Given the description of an element on the screen output the (x, y) to click on. 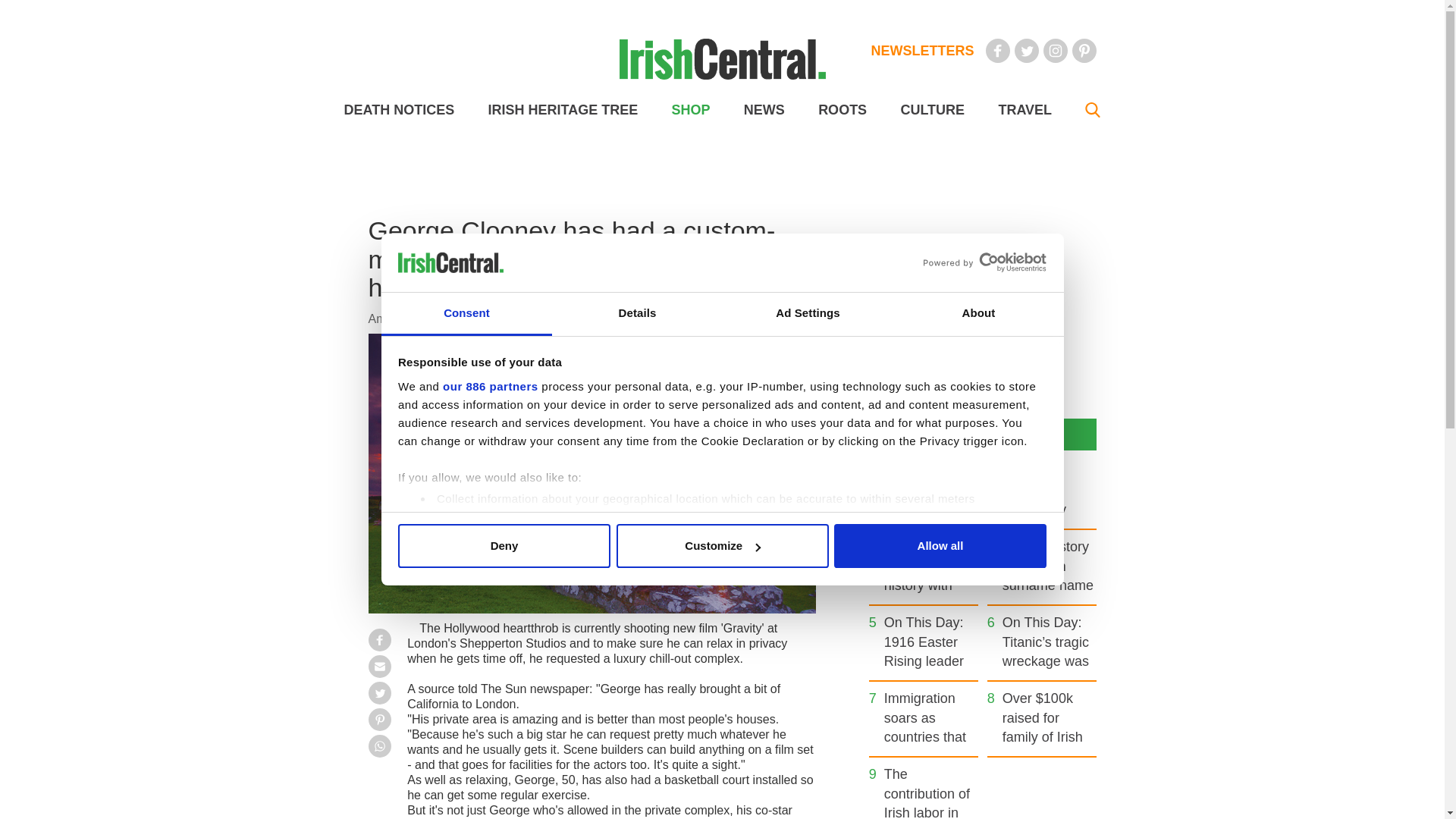
Consent (465, 313)
details section (927, 536)
About (978, 313)
Ad Settings (807, 313)
Details (636, 313)
our 886 partners (490, 386)
